Given the description of an element on the screen output the (x, y) to click on. 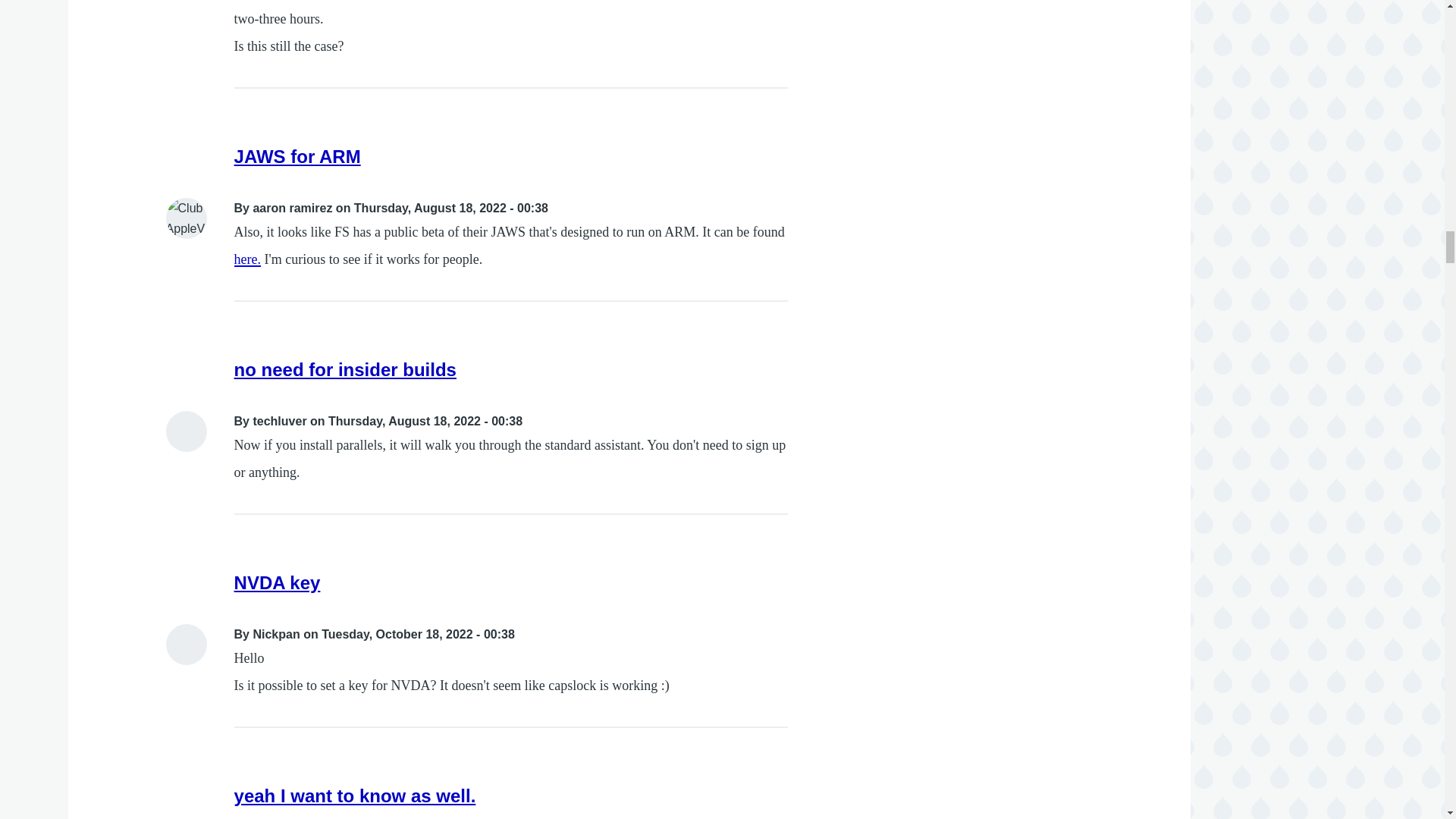
no need for insider builds (345, 369)
here. (247, 258)
JAWS for ARM (297, 156)
